Given the description of an element on the screen output the (x, y) to click on. 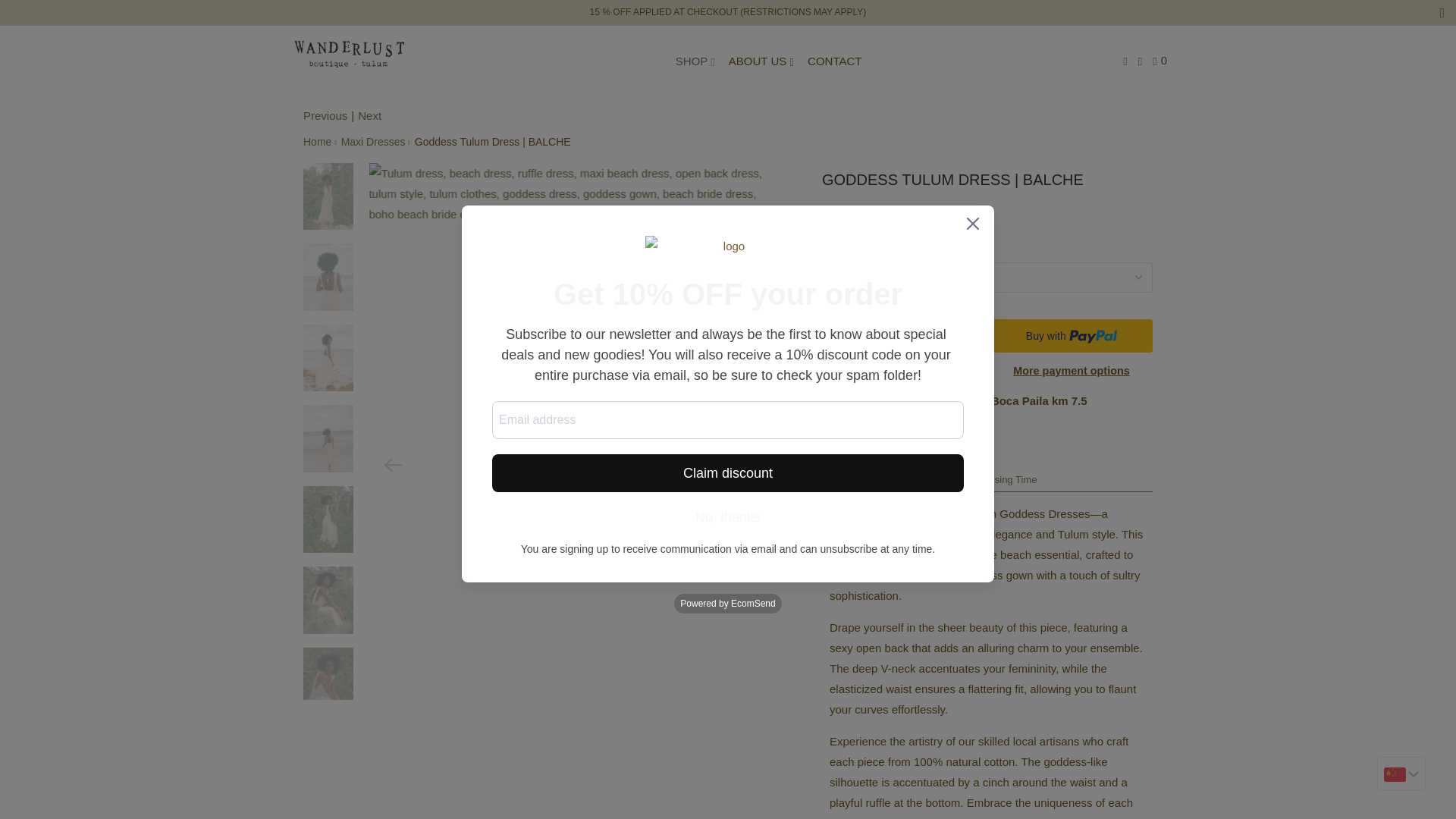
Previous (324, 115)
Wanderlustulum (348, 53)
Next (369, 115)
Wanderlustulum (316, 141)
Maxi Dresses (373, 141)
